Given the description of an element on the screen output the (x, y) to click on. 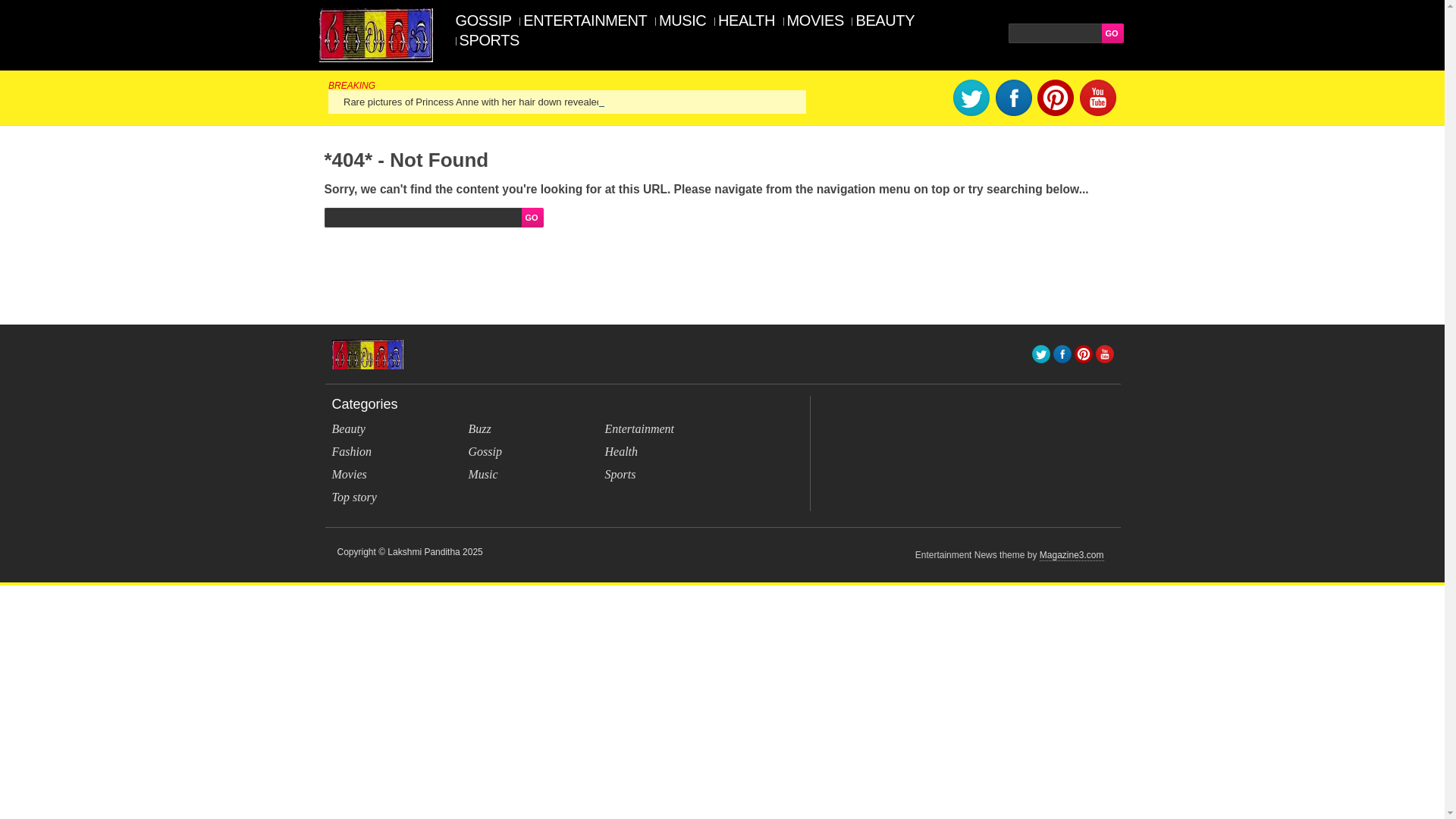
GO (532, 217)
GO (1111, 33)
pinterest (1083, 353)
Magazine3.com (1071, 555)
GOSSIP (484, 20)
BEAUTY (884, 20)
GO (532, 217)
youtube (1103, 353)
facebook (1061, 353)
Twitter (1039, 353)
